Given the description of an element on the screen output the (x, y) to click on. 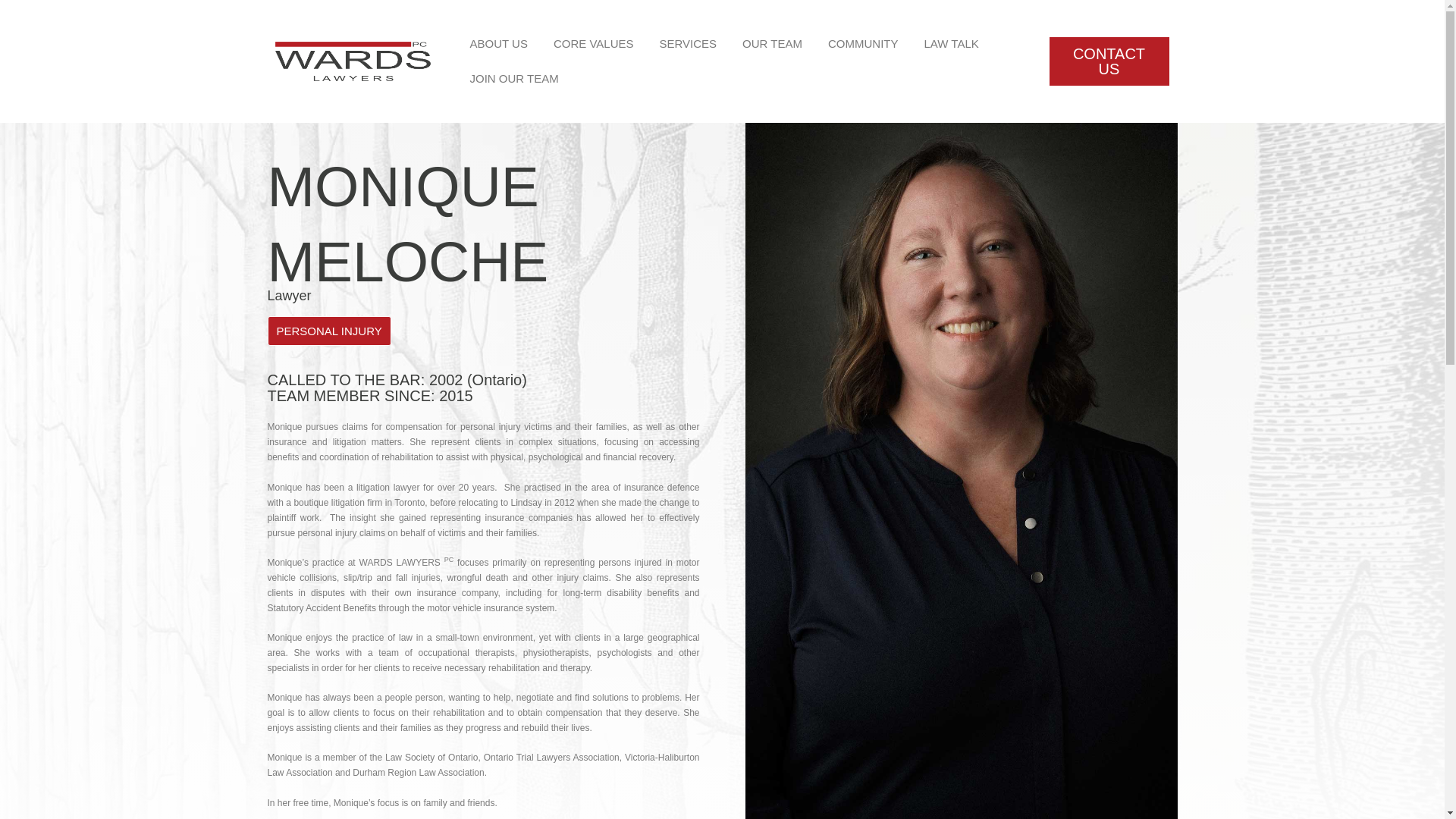
ABOUT US (498, 43)
LAW TALK (951, 43)
COMMUNITY (863, 43)
JOIN OUR TEAM (513, 78)
CORE VALUES (593, 43)
OUR TEAM (772, 43)
CONTACT US (1108, 61)
PERSONAL INJURY (328, 330)
SERVICES (687, 43)
